Given the description of an element on the screen output the (x, y) to click on. 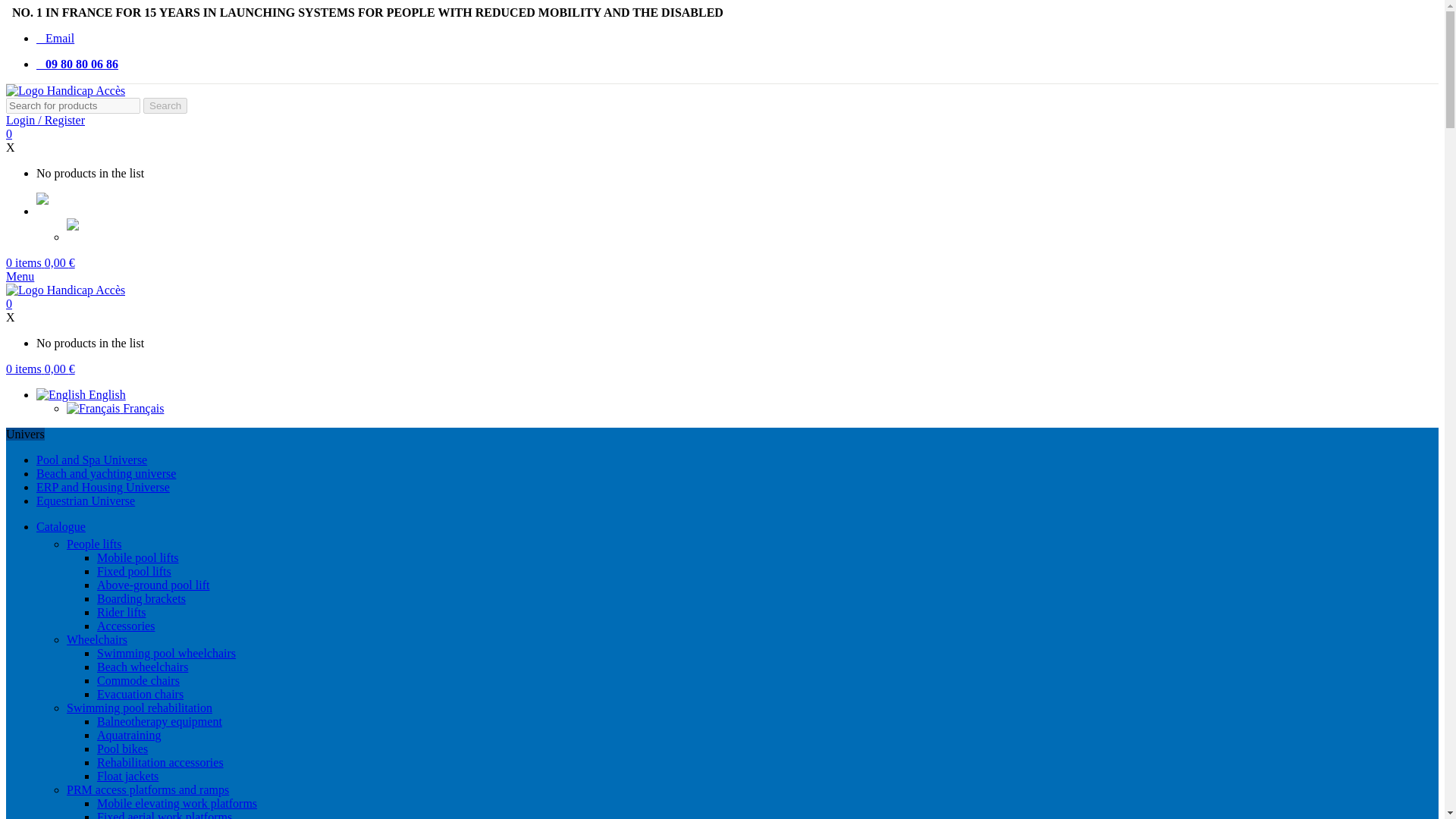
Evacuation chairs (140, 694)
Rider lifts (121, 612)
Mobile pool lifts (138, 557)
Commode chairs (138, 680)
Swimming pool wheelchairs (166, 653)
Pool and Spa Universe (91, 459)
Menu (19, 276)
Search for products (72, 105)
Accessories (125, 625)
   09 80 80 06 86 (76, 63)
